Given the description of an element on the screen output the (x, y) to click on. 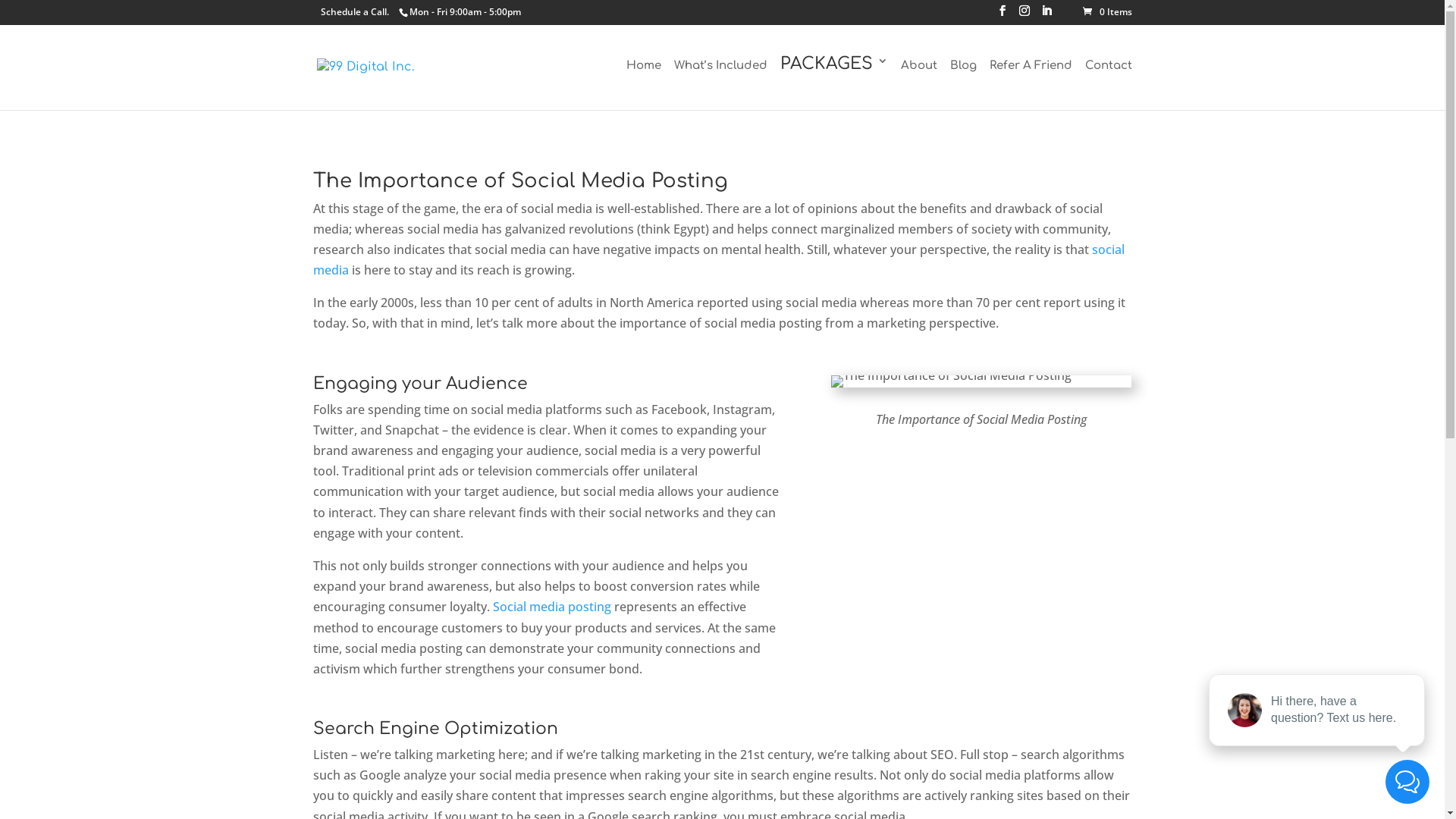
Social media posting Element type: text (551, 606)
0 Items Element type: text (1107, 11)
Refer A Friend Element type: text (1029, 80)
About Element type: text (918, 80)
PACKAGES Element type: text (833, 81)
Blog Element type: text (962, 80)
Mon - Fri 9:00am - 5:00pm Element type: text (464, 11)
Contact Element type: text (1107, 80)
The-Importance-of-Social-Media-Posting Element type: hover (951, 381)
social media Element type: text (717, 259)
Home Element type: text (643, 80)
